Given the description of an element on the screen output the (x, y) to click on. 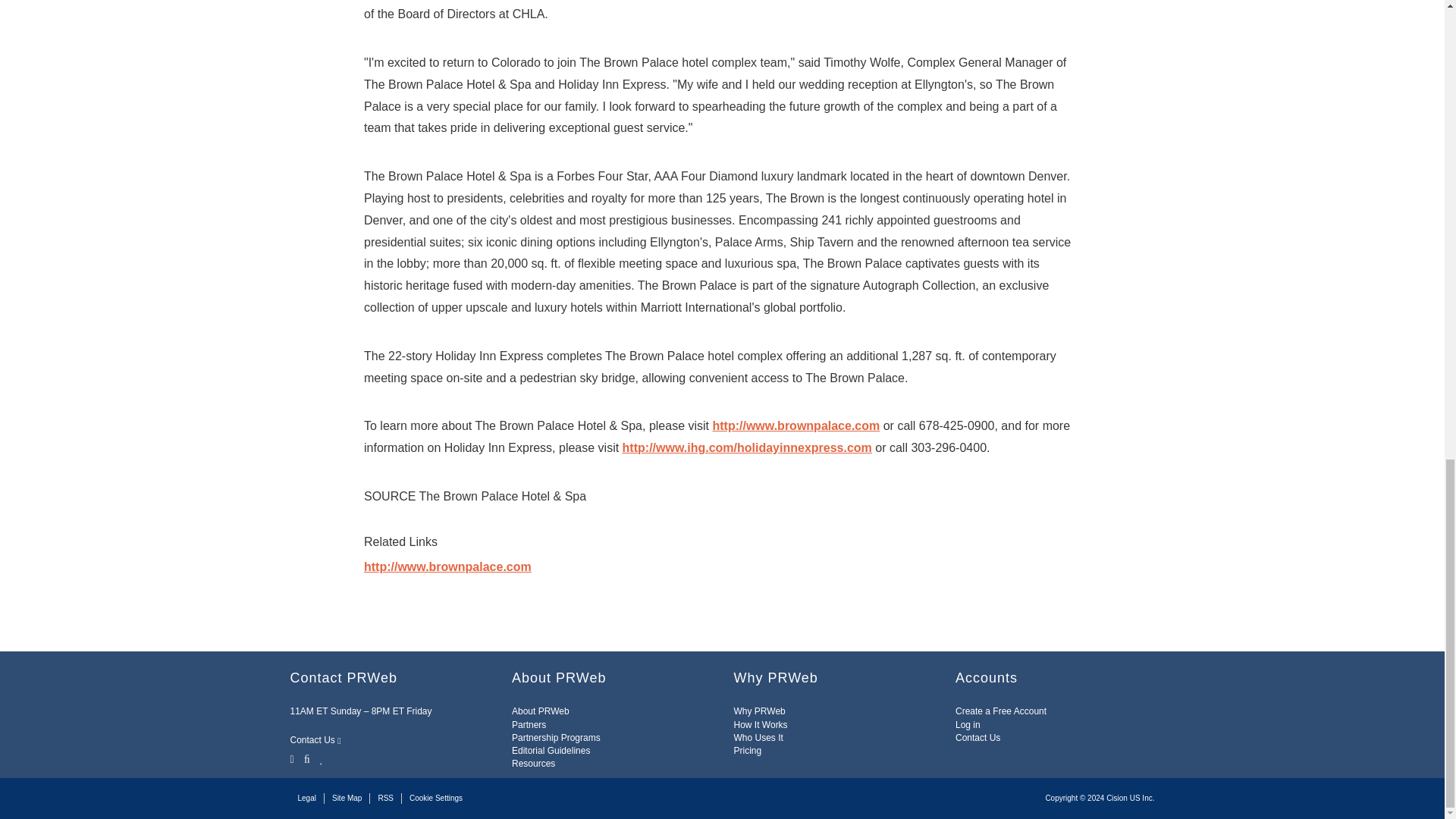
Why PRWeb (759, 710)
Resources (533, 763)
Partners (529, 724)
About PRWeb (540, 710)
Facebook (306, 758)
Partnership Programs (555, 737)
Editorial Guidelines (550, 750)
